Given the description of an element on the screen output the (x, y) to click on. 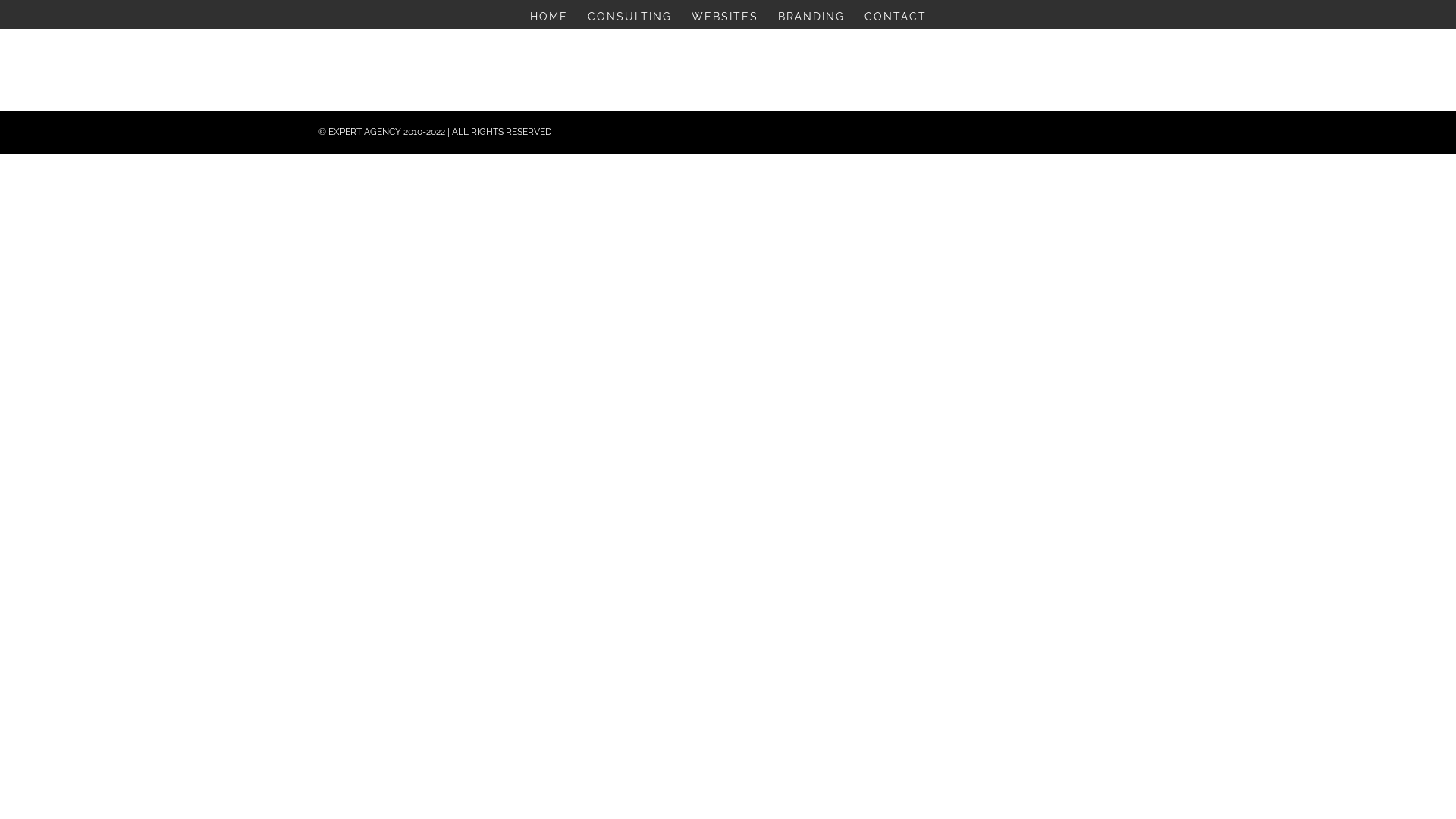
CONSULTING Element type: text (628, 19)
HOME Element type: text (548, 19)
WEBSITES Element type: text (724, 19)
CONTACT Element type: text (895, 19)
BRANDING Element type: text (811, 19)
